Given the description of an element on the screen output the (x, y) to click on. 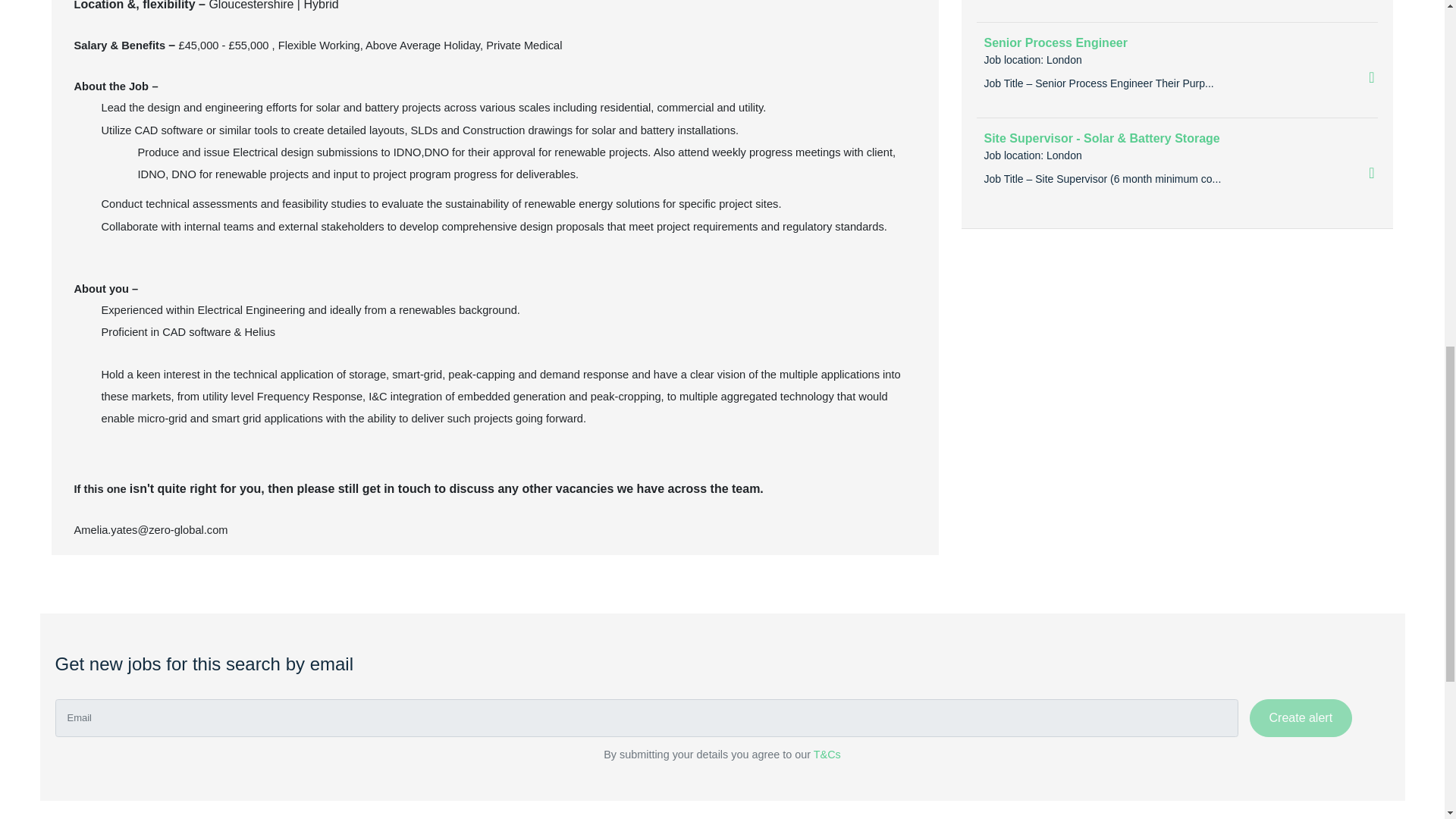
Create alert (1300, 718)
